Given the description of an element on the screen output the (x, y) to click on. 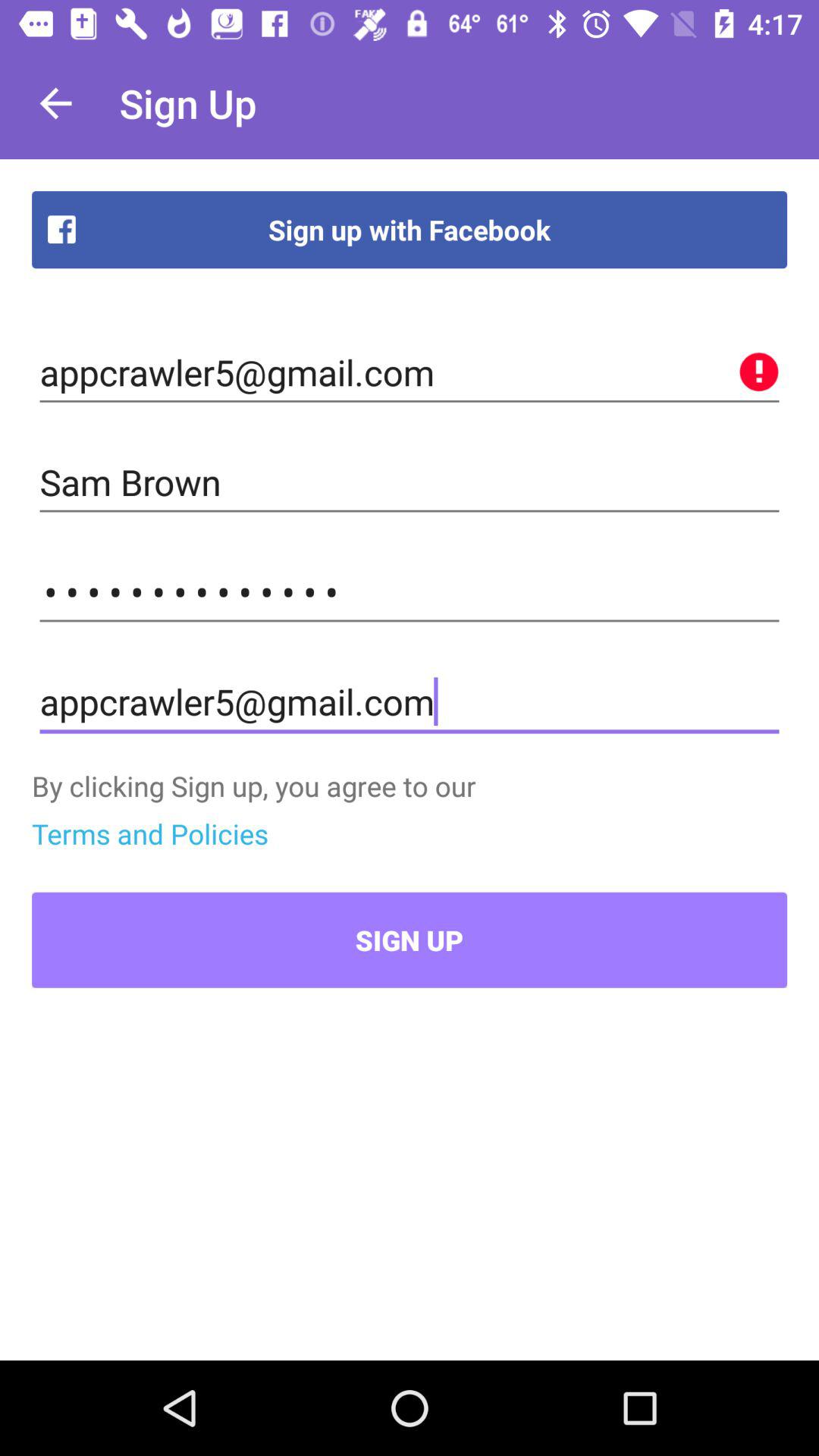
turn off the item below appcrawler5@gmail.com (409, 482)
